Given the description of an element on the screen output the (x, y) to click on. 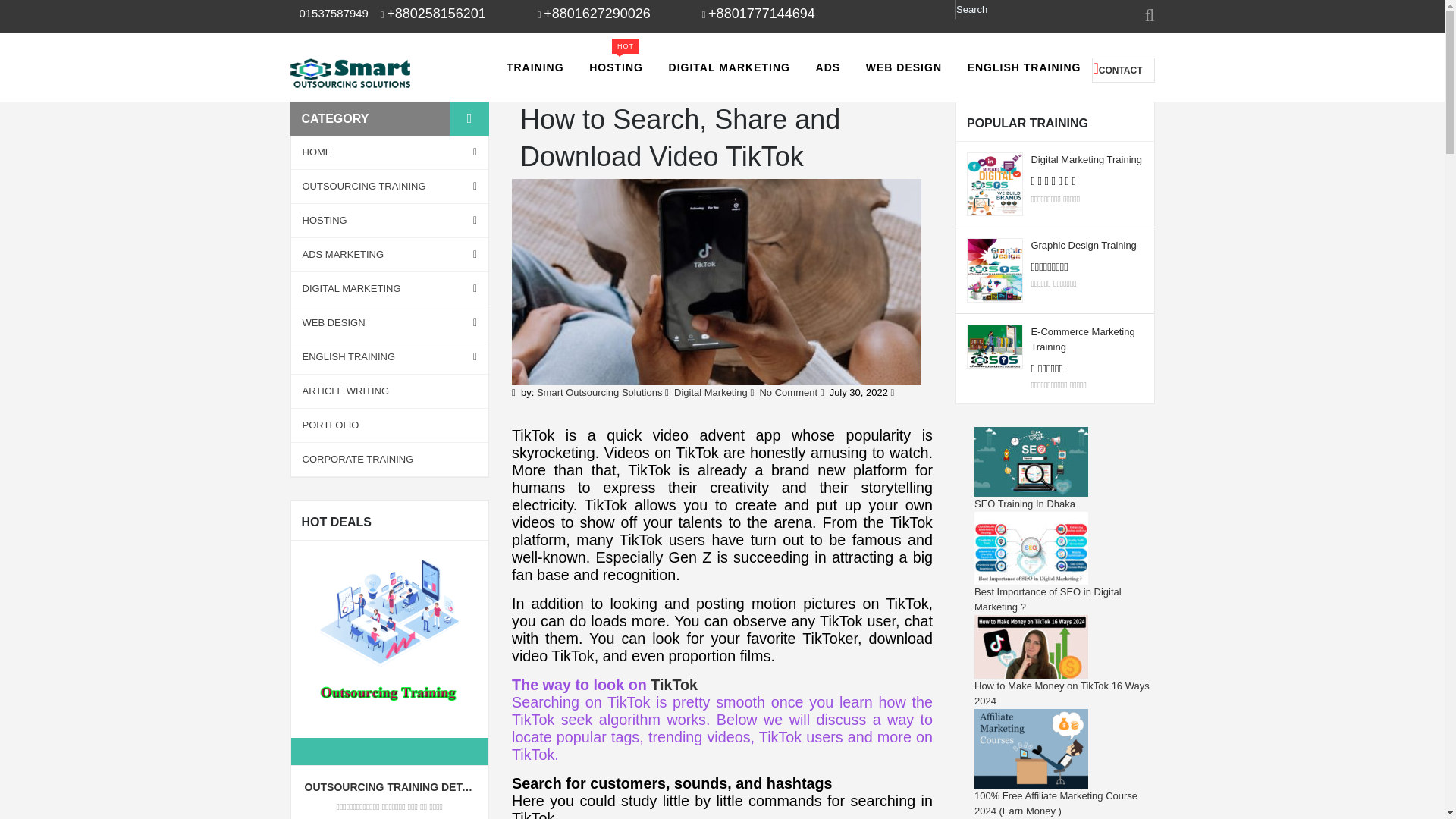
Type and press Enter to search. (1019, 9)
Smart Outsourcing Solutions (349, 71)
Search (1019, 9)
Search (1019, 9)
